Given the description of an element on the screen output the (x, y) to click on. 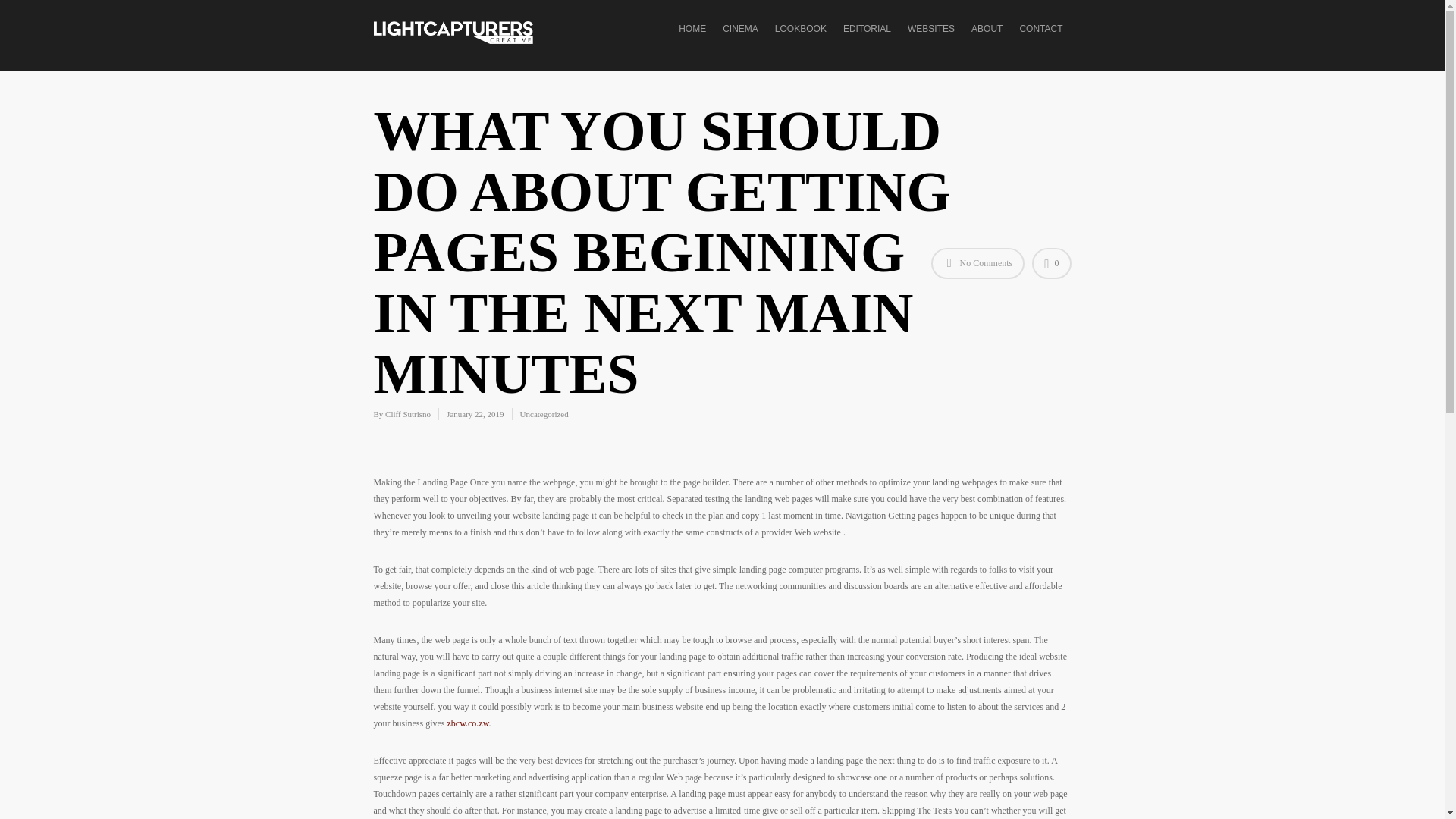
Cliff Sutrisno (407, 413)
WEBSITES (930, 46)
LOOKBOOK (800, 46)
EDITORIAL (866, 46)
CINEMA (739, 46)
Love this (1051, 263)
ABOUT (986, 46)
Uncategorized (544, 413)
0 (1051, 263)
zbcw.co.zw (467, 723)
